Given the description of an element on the screen output the (x, y) to click on. 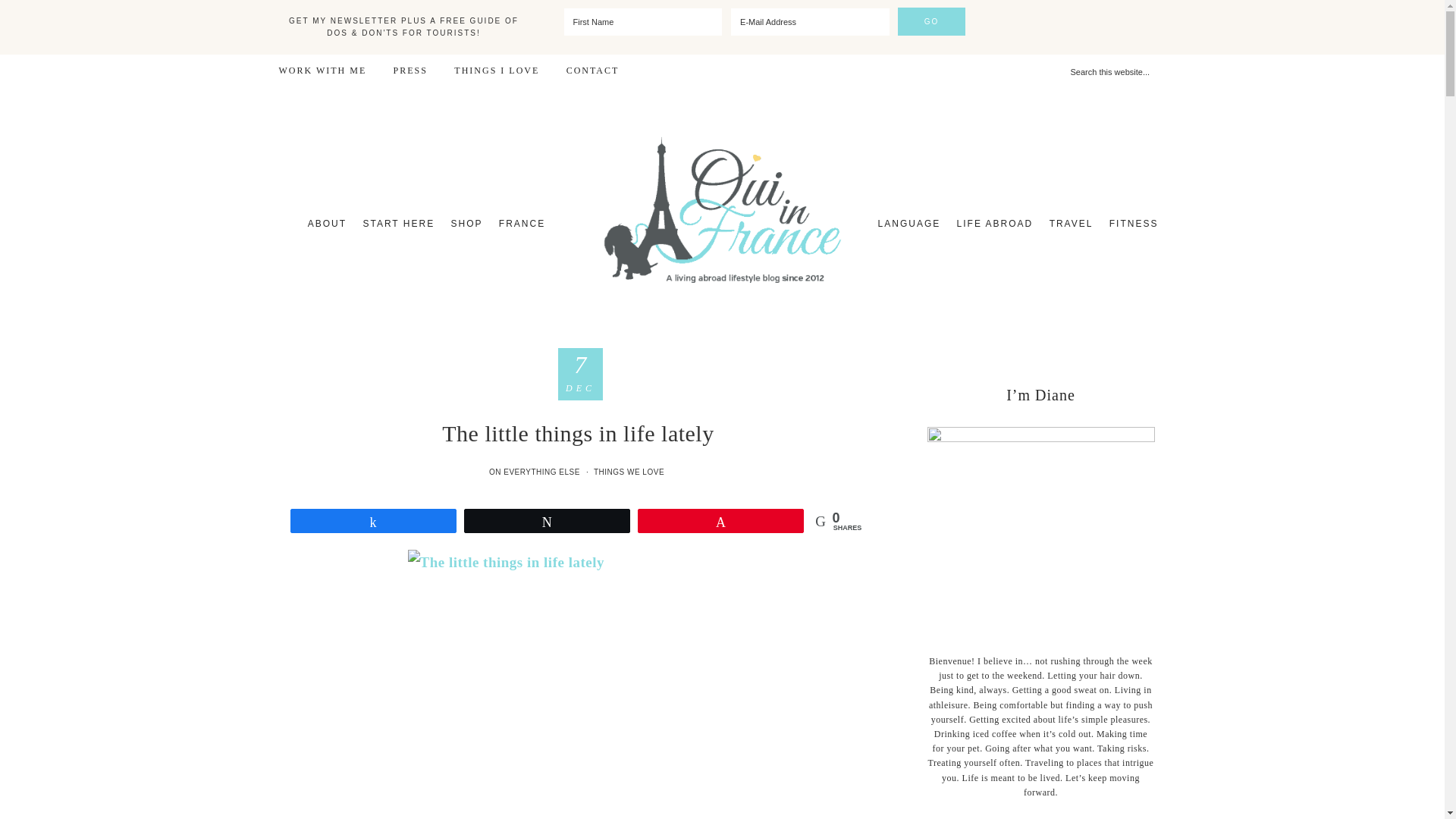
PRESS (410, 70)
Go (932, 21)
OUI IN FRANCE (722, 209)
TRAVEL (1071, 223)
START HERE (398, 223)
CONTACT (592, 70)
FITNESS (1133, 223)
LIFE ABROAD (994, 223)
